Given the description of an element on the screen output the (x, y) to click on. 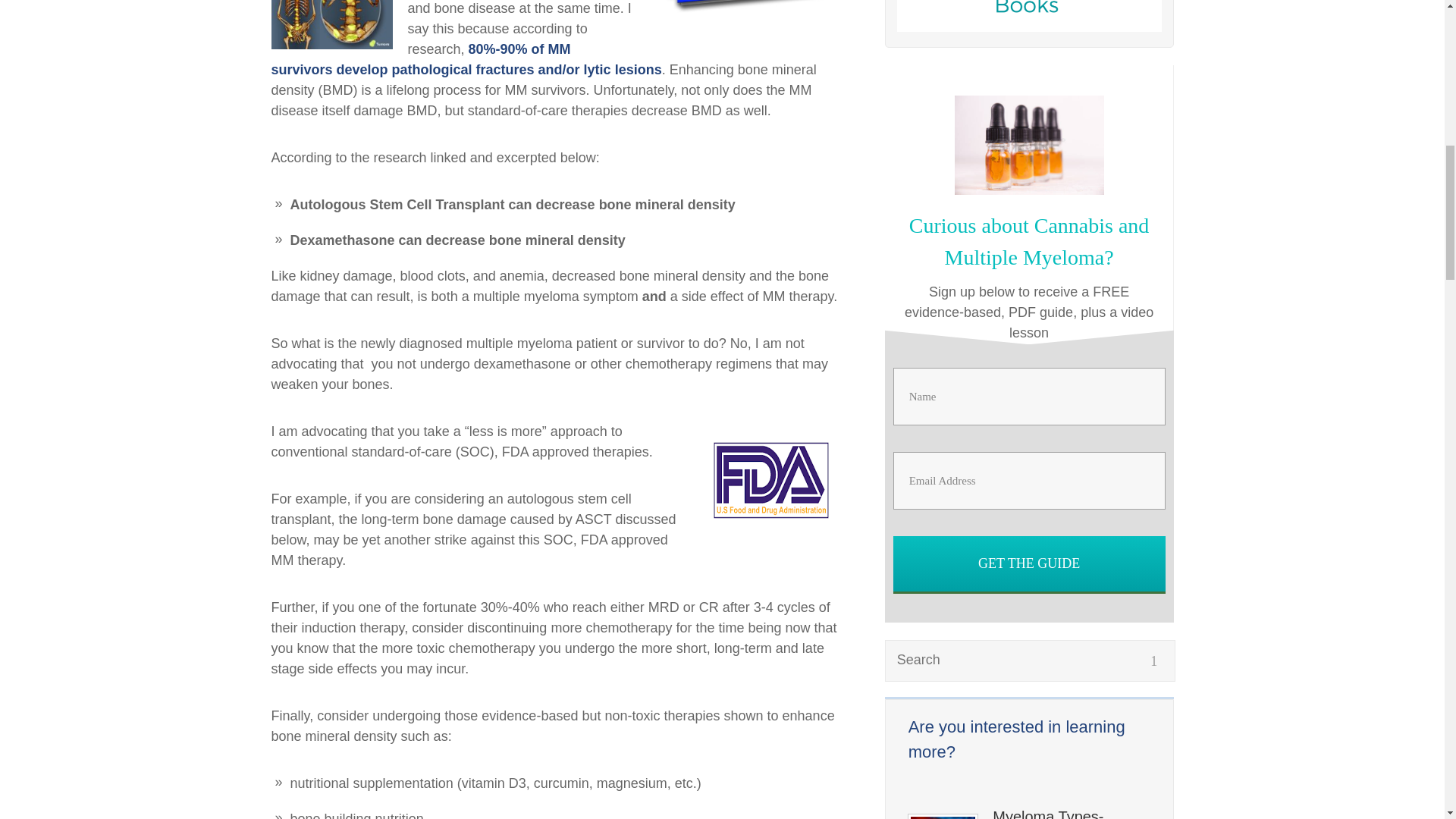
cbd-oil- (1029, 144)
Myeloma Types- NonSecretory, Light Chain, Oligosecretory (1071, 812)
MM Bone Health (744, 15)
GET THE GUIDE (1029, 563)
